Given the description of an element on the screen output the (x, y) to click on. 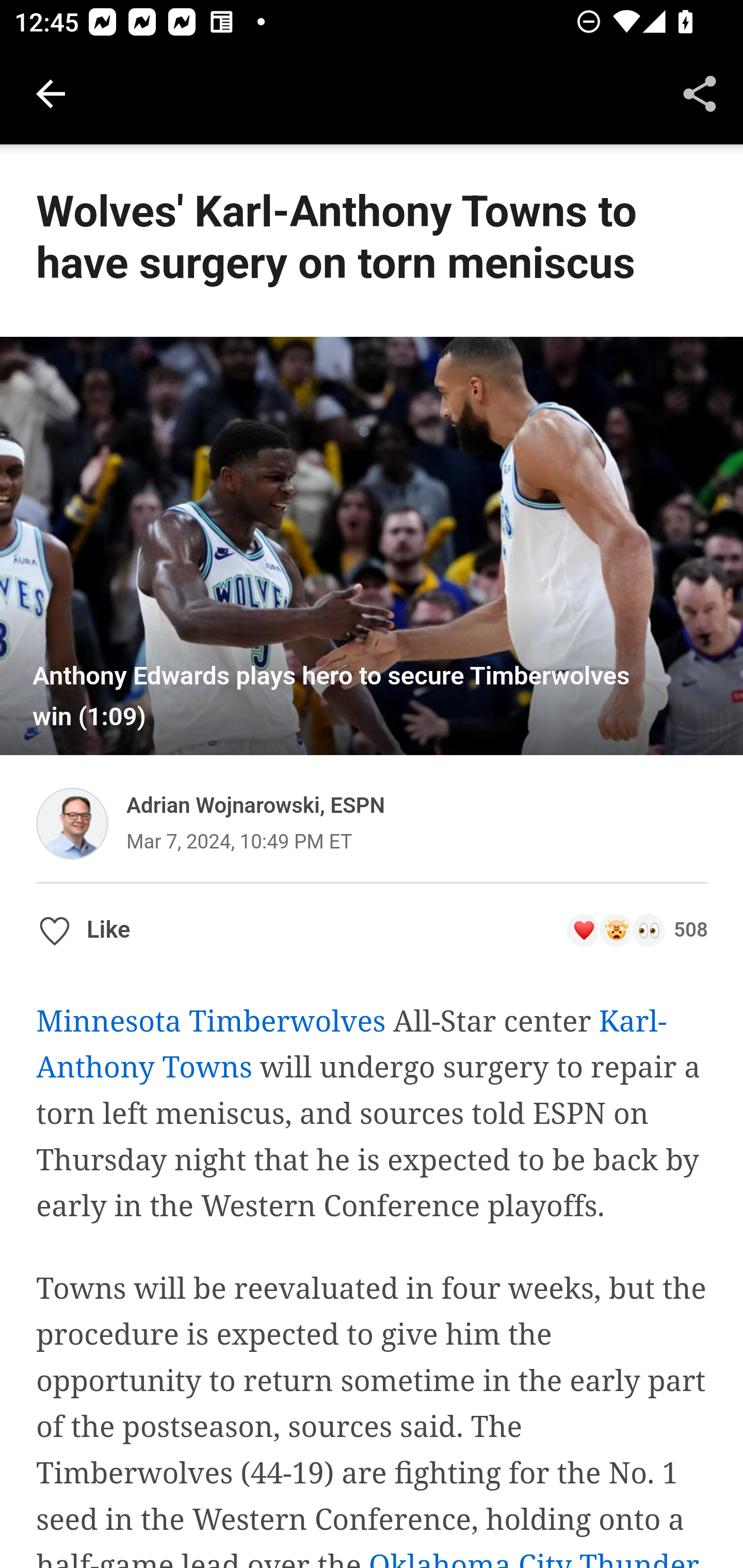
Navigate up (50, 93)
Share (699, 93)
